Given the description of an element on the screen output the (x, y) to click on. 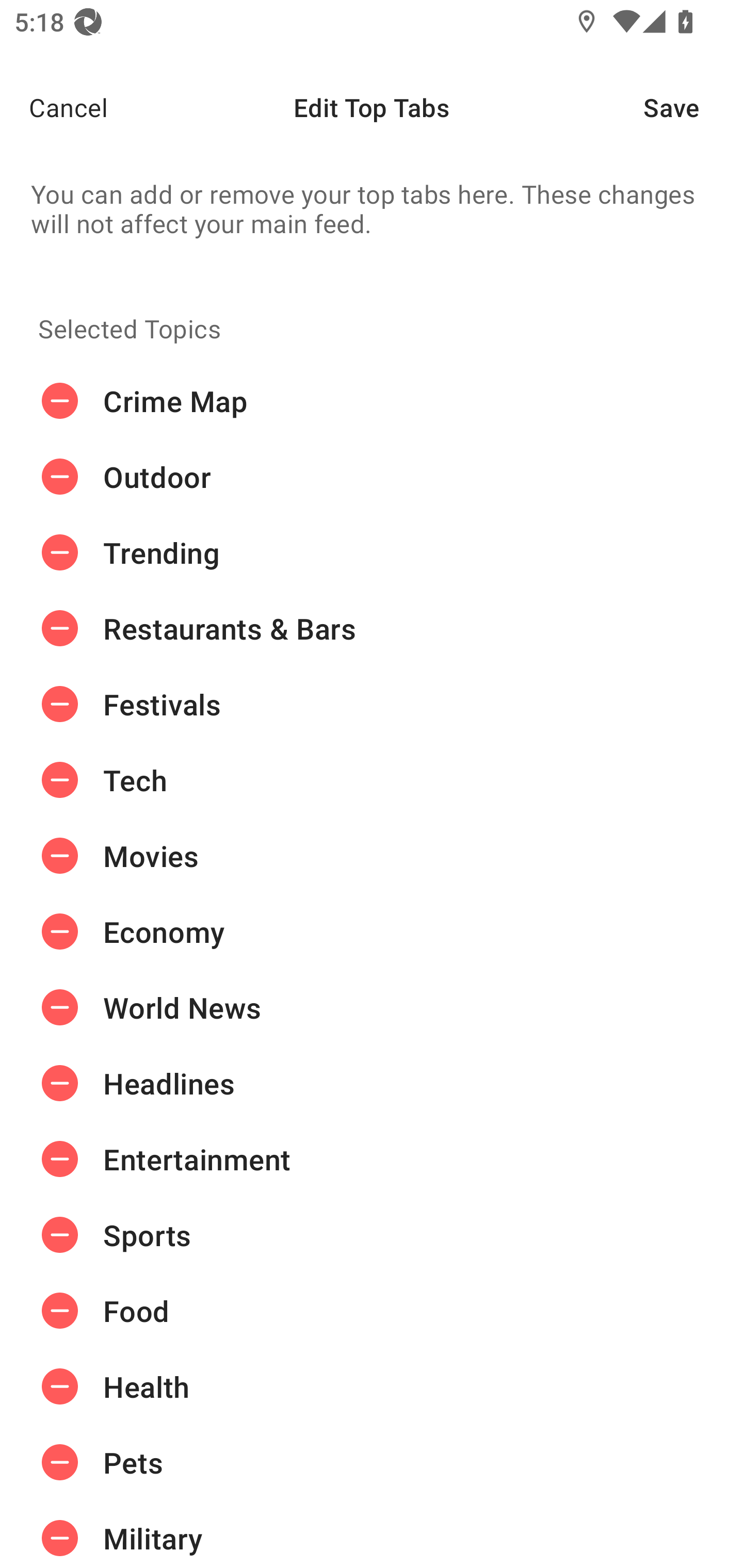
Cancel (53, 106)
Save (693, 106)
Crime Map (371, 401)
Outdoor (371, 476)
Trending (371, 552)
Restaurants & Bars (371, 628)
Festivals (371, 703)
Tech (371, 779)
Movies (371, 855)
Economy (371, 931)
World News (371, 1007)
Headlines (371, 1083)
Entertainment (371, 1158)
Sports (371, 1234)
Food (371, 1310)
Health (371, 1386)
Pets (371, 1462)
Military (371, 1534)
